Given the description of an element on the screen output the (x, y) to click on. 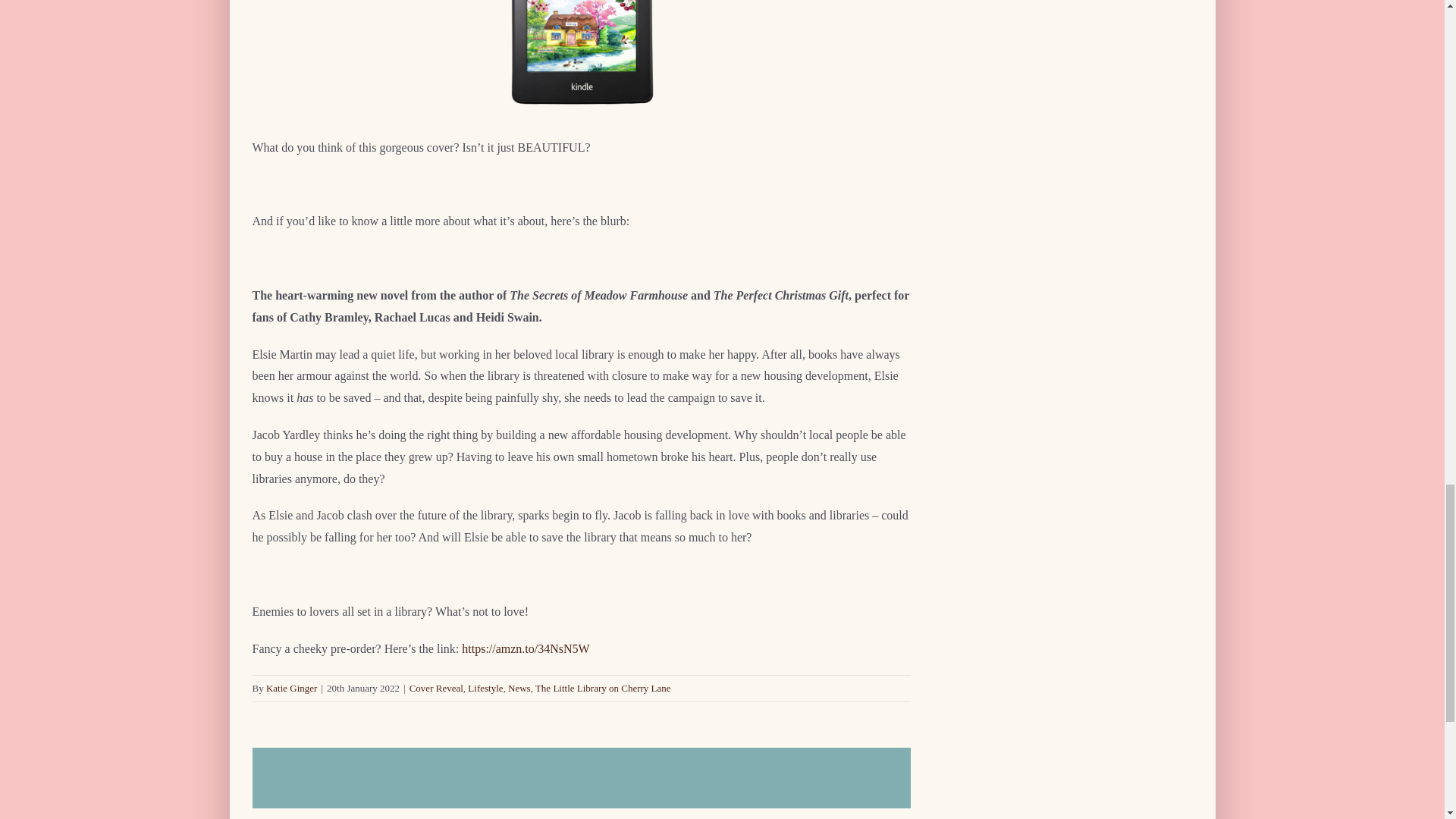
The Little Library on Cherry Lane (603, 687)
Cover Reveal (436, 687)
Katie Ginger (291, 687)
Posts by Katie Ginger (291, 687)
Lifestyle (484, 687)
News (519, 687)
